Given the description of an element on the screen output the (x, y) to click on. 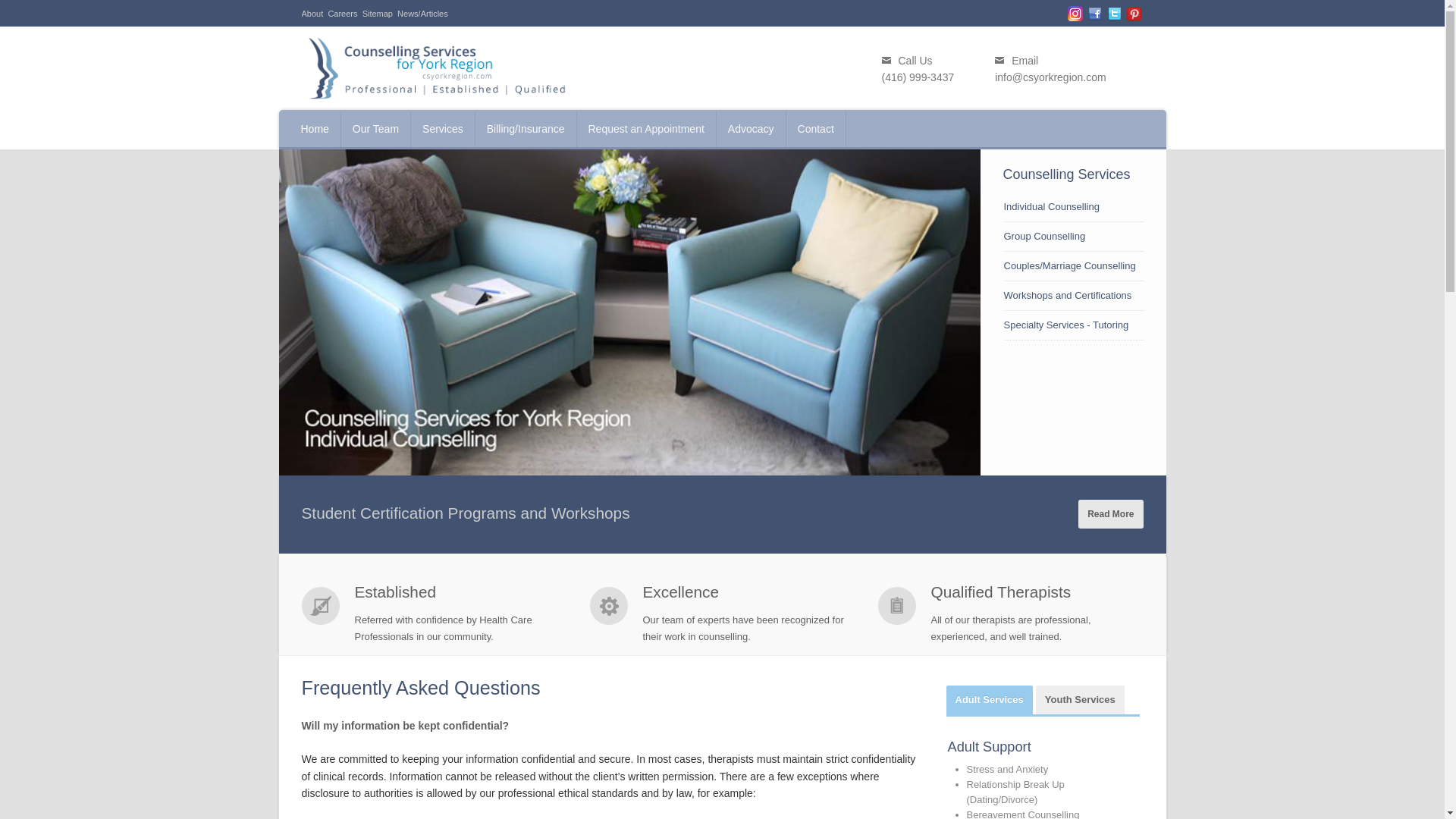
Twitter - Vaughan Counselling (1114, 13)
About (312, 13)
Sitemap (377, 13)
Workshops and Certifications (1068, 295)
Pinterest - Vaughan Counselling (1133, 13)
Individual Counselling (1051, 206)
Our Team (375, 129)
Group Counselling (1045, 235)
Home (314, 129)
Careers (341, 13)
Request an Appointment (646, 129)
Read More (1110, 513)
Facebook - Vaughan Counselling (1094, 13)
Contact (815, 129)
